Given the description of an element on the screen output the (x, y) to click on. 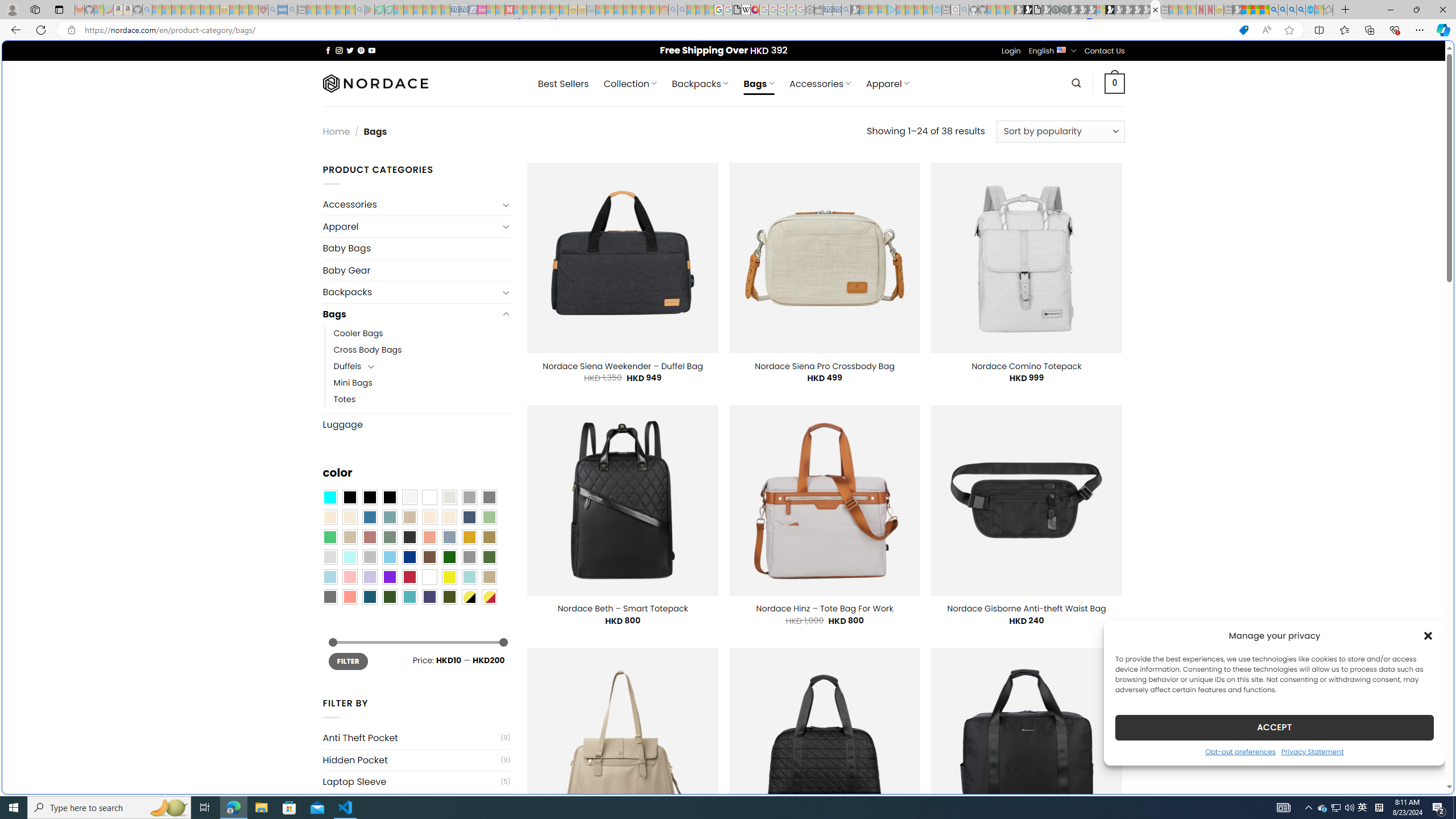
MediaWiki (754, 9)
Dark Green (449, 557)
Cross Body Bags (422, 349)
